Given the description of an element on the screen output the (x, y) to click on. 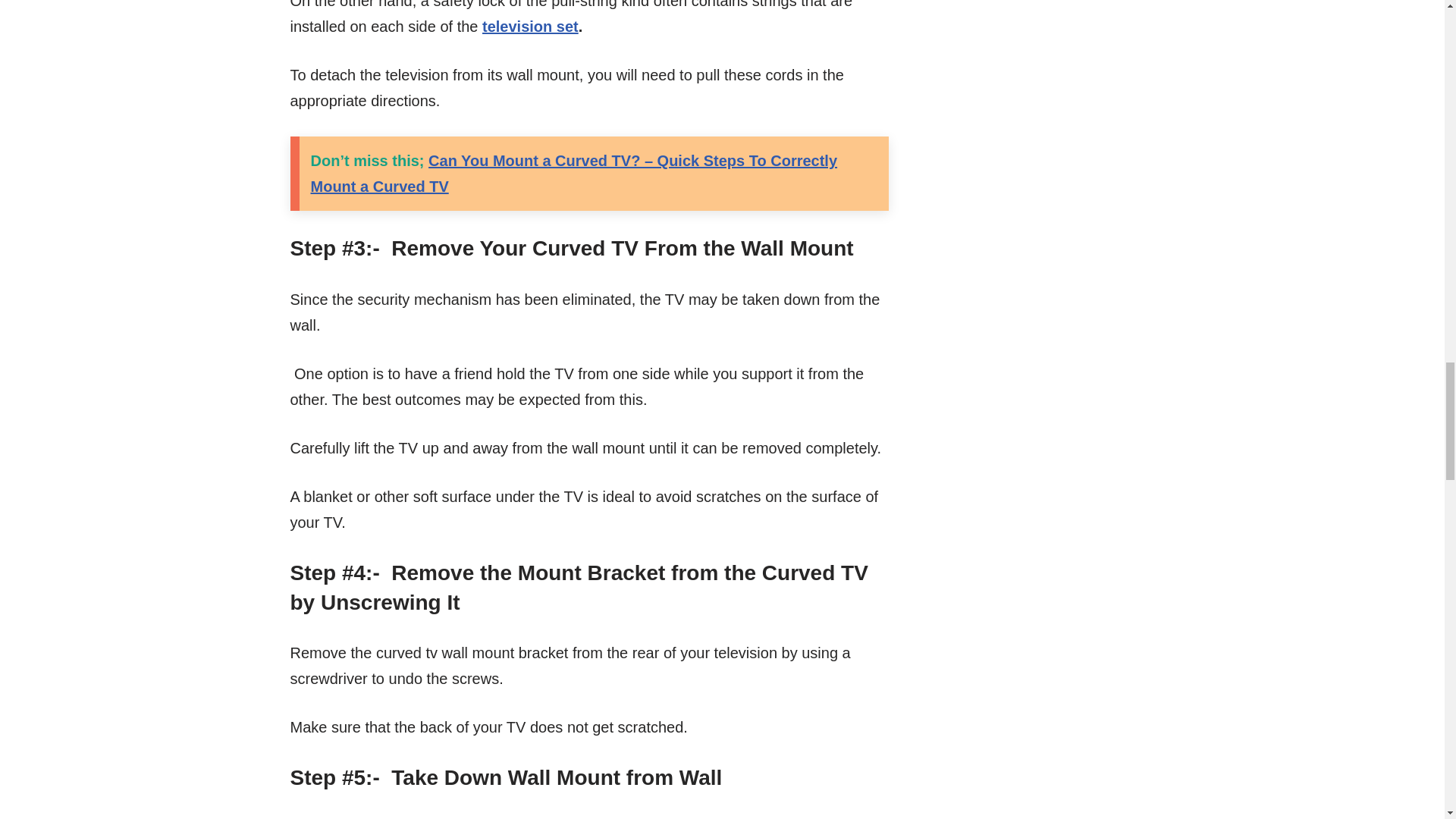
television set (529, 26)
